Given the description of an element on the screen output the (x, y) to click on. 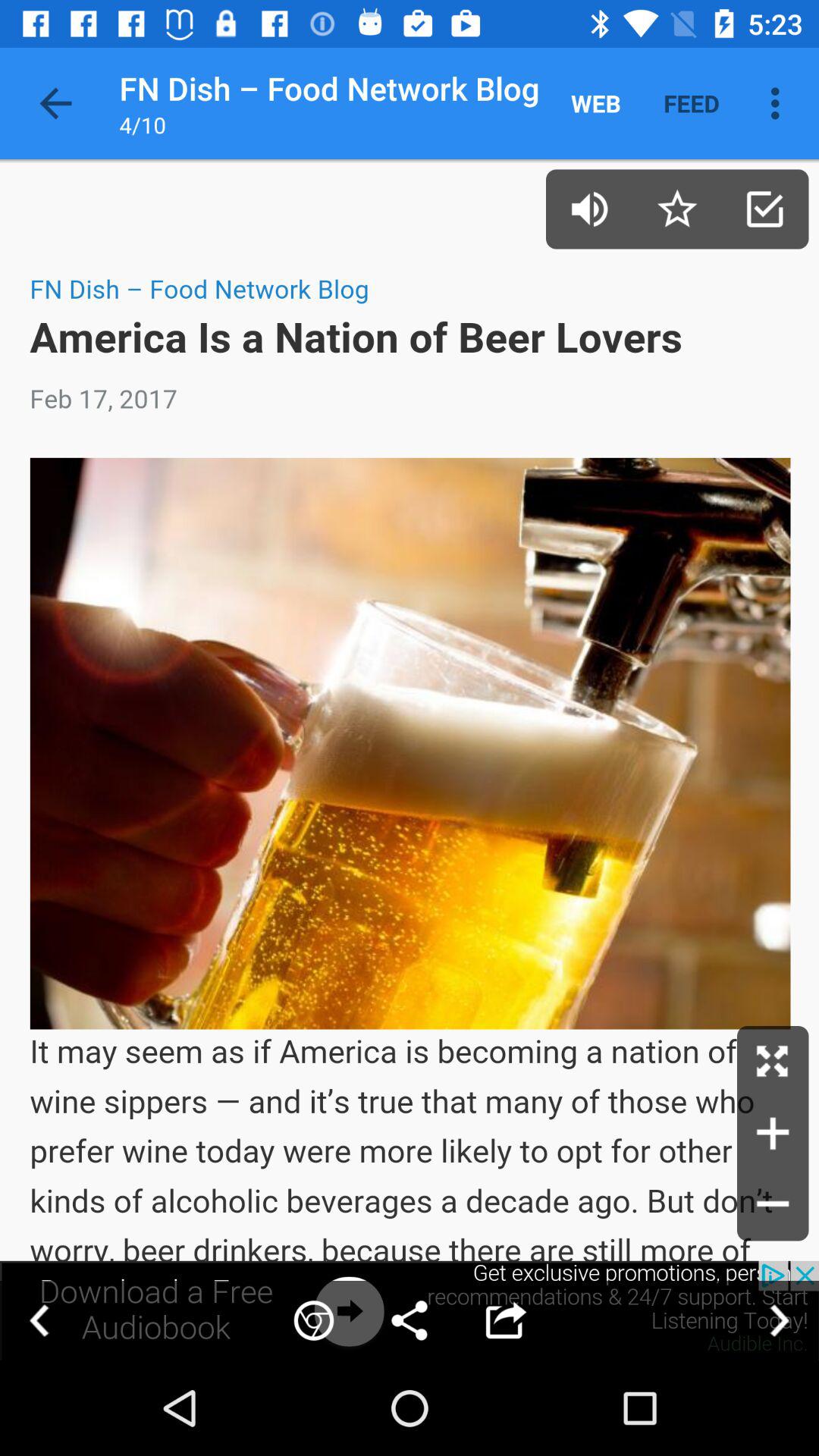
save article (764, 209)
